Given the description of an element on the screen output the (x, y) to click on. 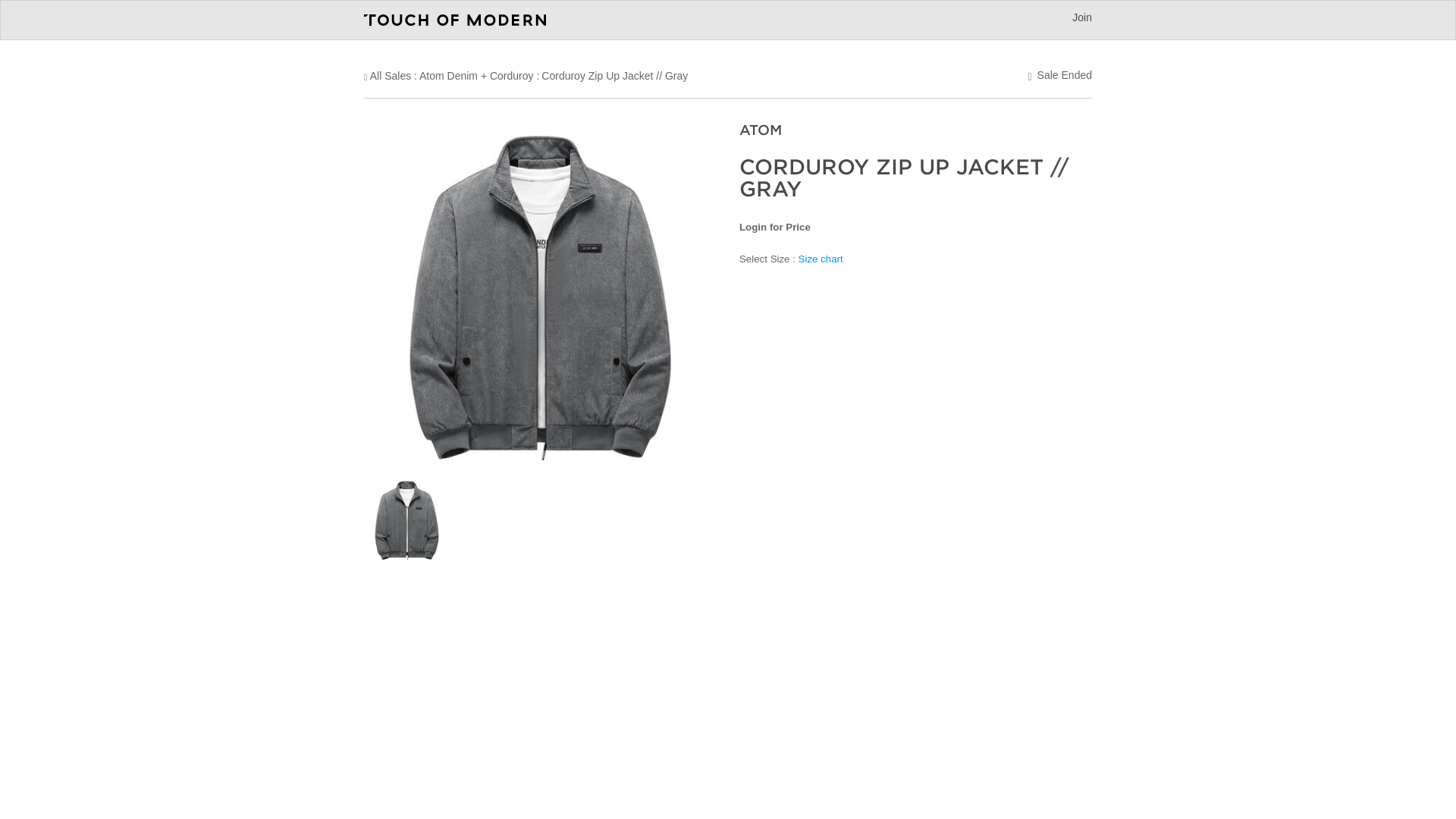
All Sales (389, 75)
Join (1081, 17)
Size chart (820, 258)
All Sales (389, 75)
